Given the description of an element on the screen output the (x, y) to click on. 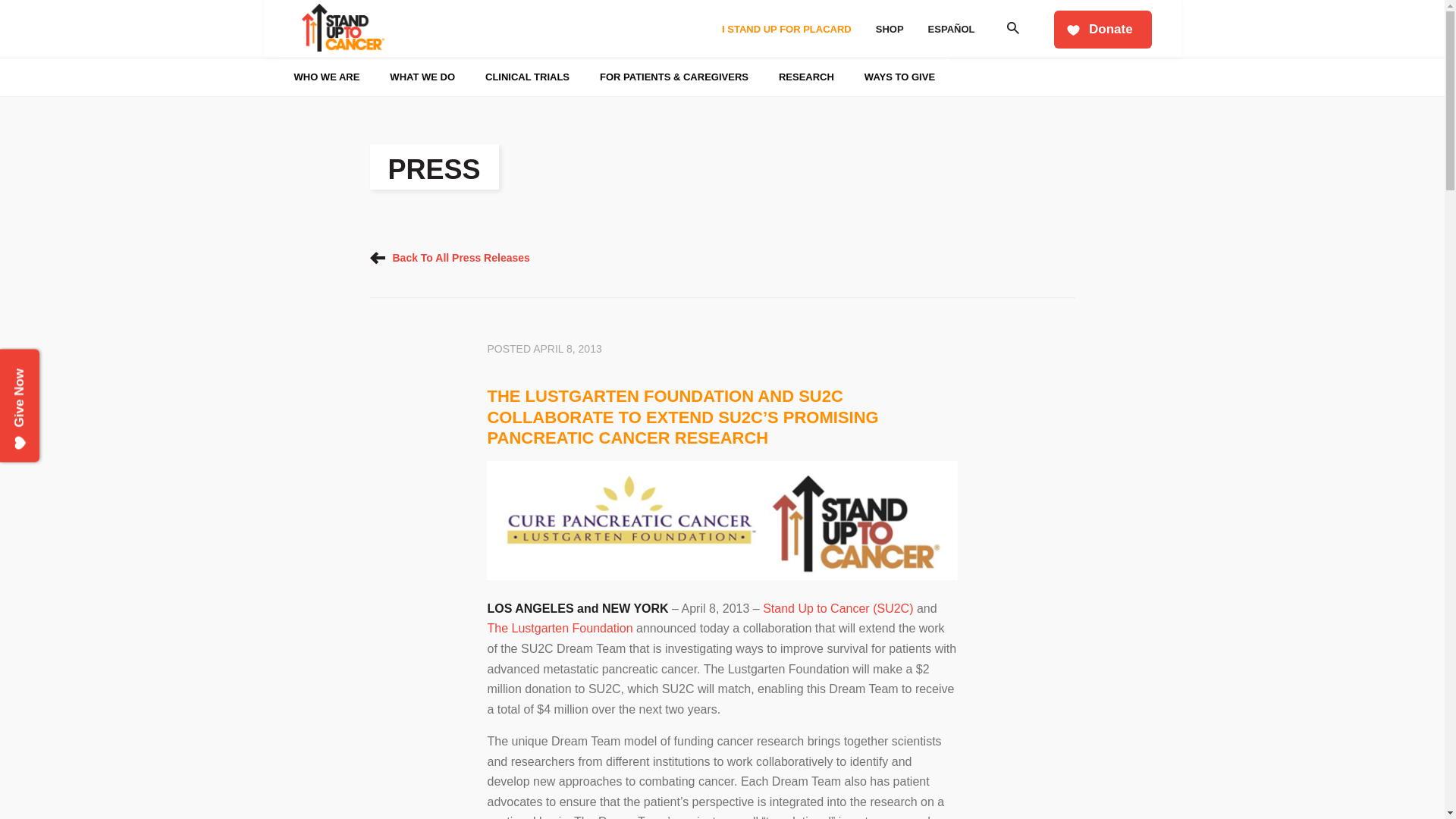
The SU2C Show (611, 17)
RESEARCH (805, 77)
Science Leadership (611, 12)
WAYS TO GIVE (899, 77)
Research Portfolio (610, 12)
I STAND UP FOR PLACARD (786, 28)
Visit What We Do (390, 58)
WHAT WE DO (422, 77)
SHOP (889, 28)
WHO WE ARE (327, 77)
